Given the description of an element on the screen output the (x, y) to click on. 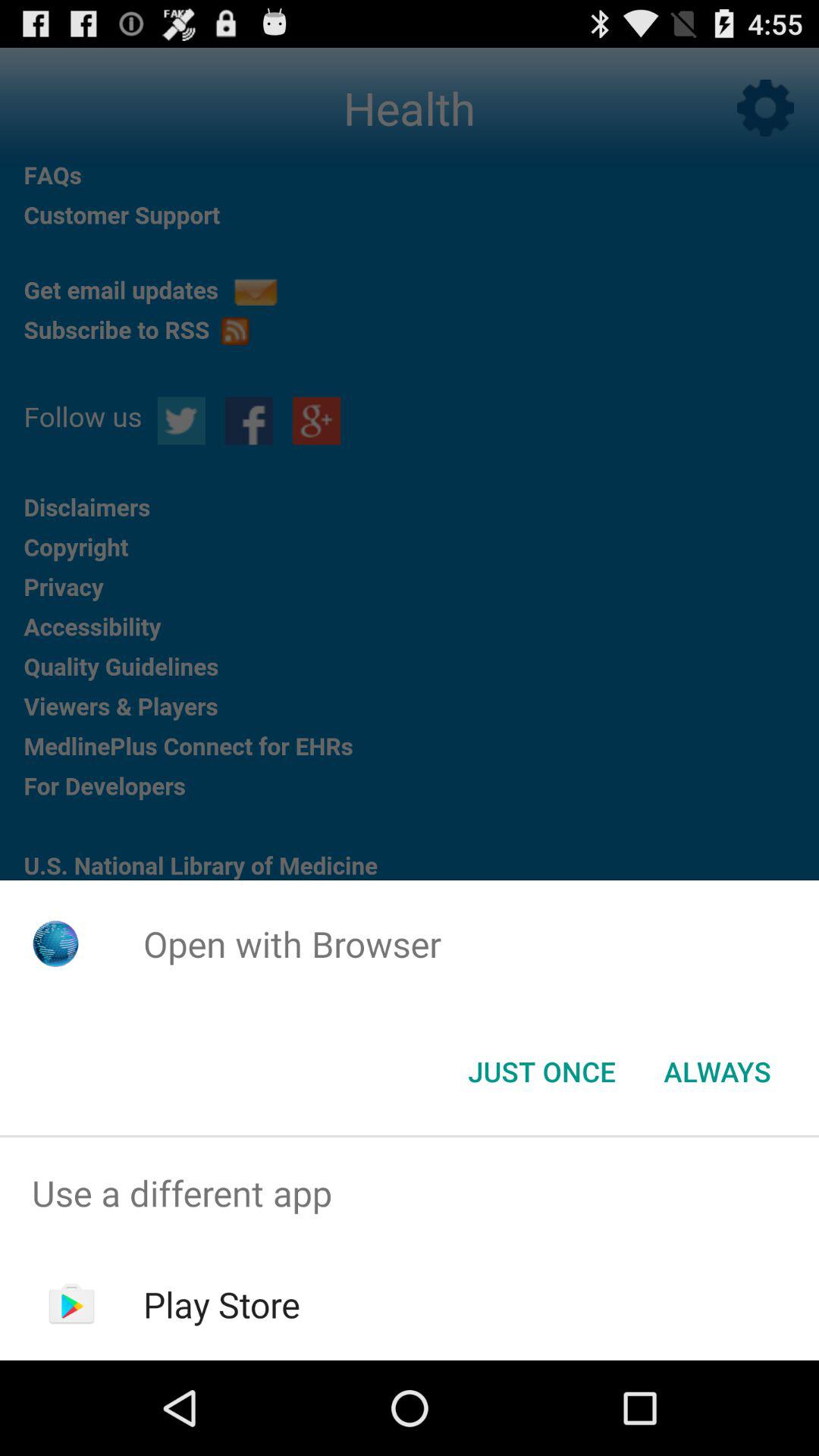
launch icon below open with browser (717, 1071)
